Given the description of an element on the screen output the (x, y) to click on. 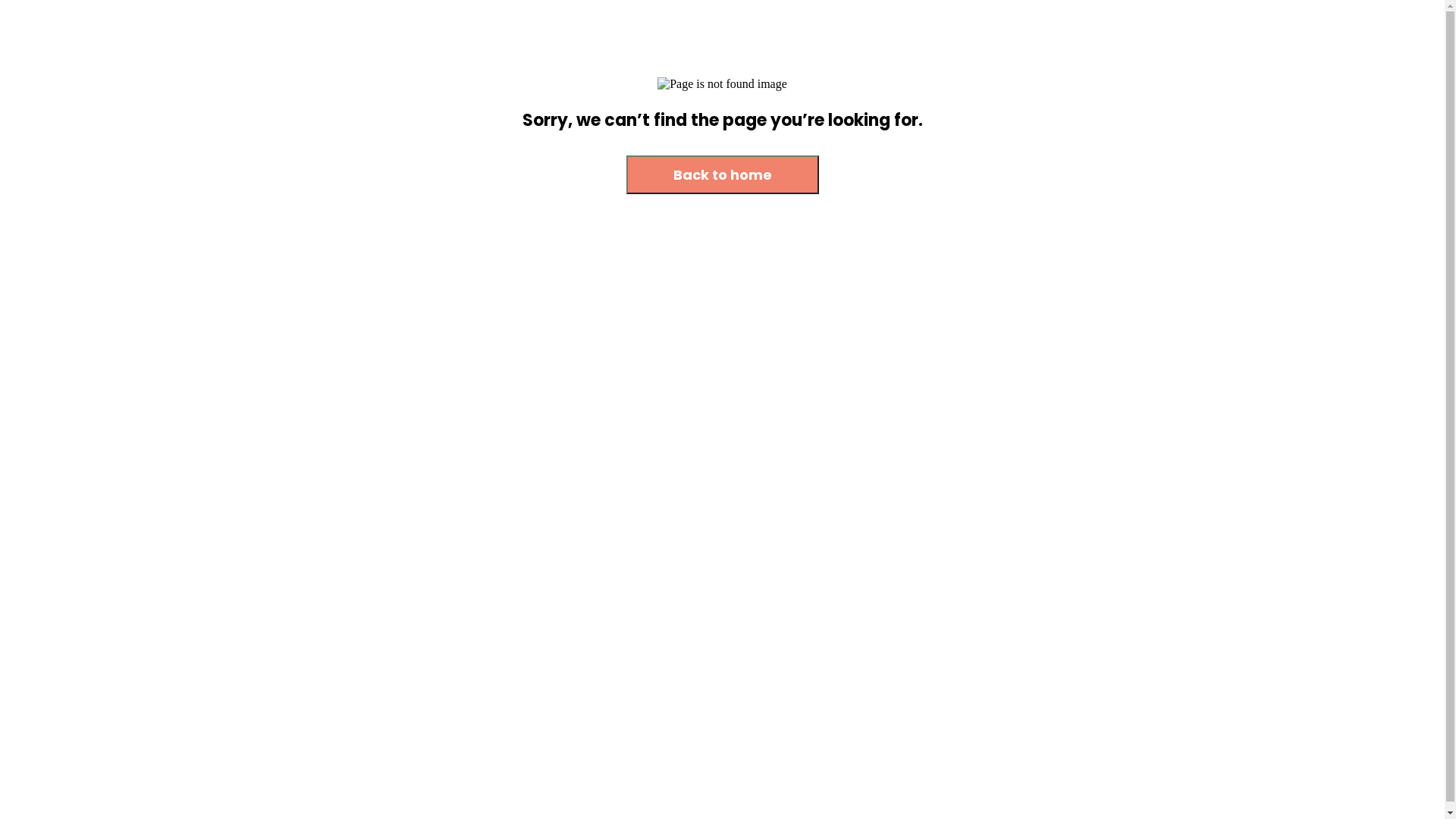
Back to home Element type: text (722, 175)
Back to home Element type: text (722, 174)
